Given the description of an element on the screen output the (x, y) to click on. 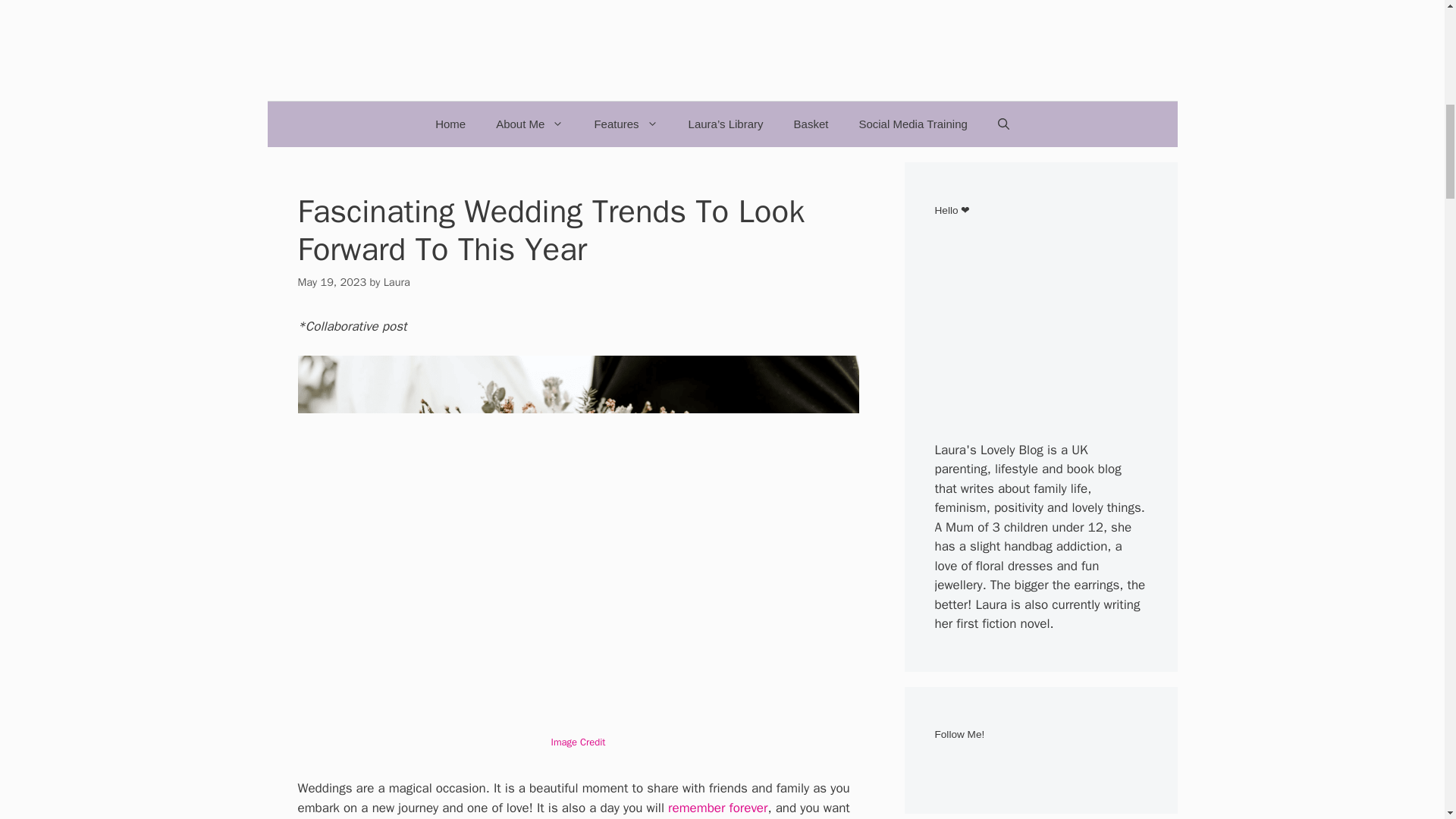
Home (450, 124)
View all posts by Laura (397, 282)
About Me (529, 124)
Image Credit (578, 741)
remember forever (717, 807)
Social Media Training (912, 124)
Laura (397, 282)
Features (625, 124)
Basket (811, 124)
